Given the description of an element on the screen output the (x, y) to click on. 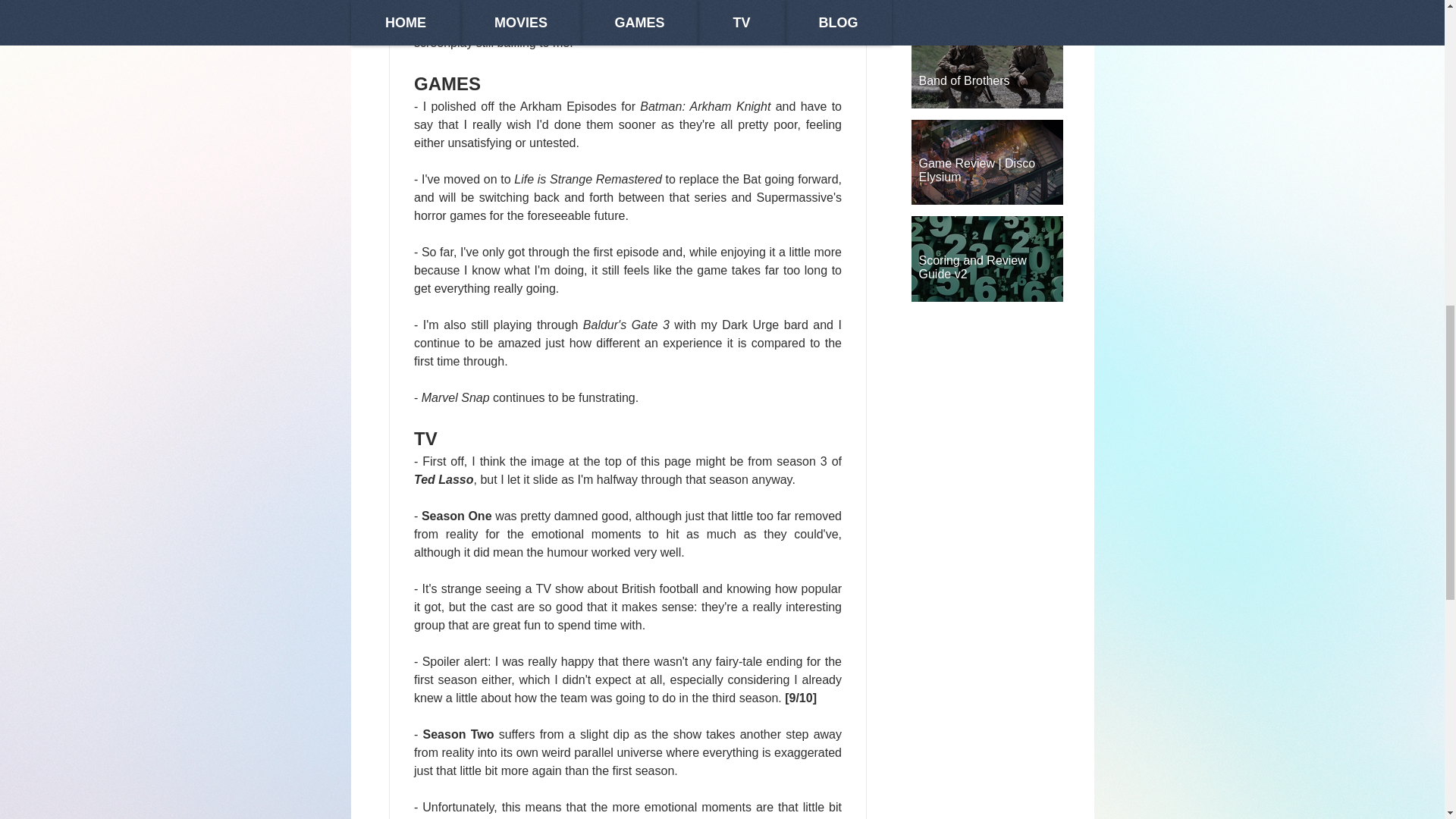
Band of Brothers (986, 73)
Scoring and Review Guide v2 (986, 259)
